Given the description of an element on the screen output the (x, y) to click on. 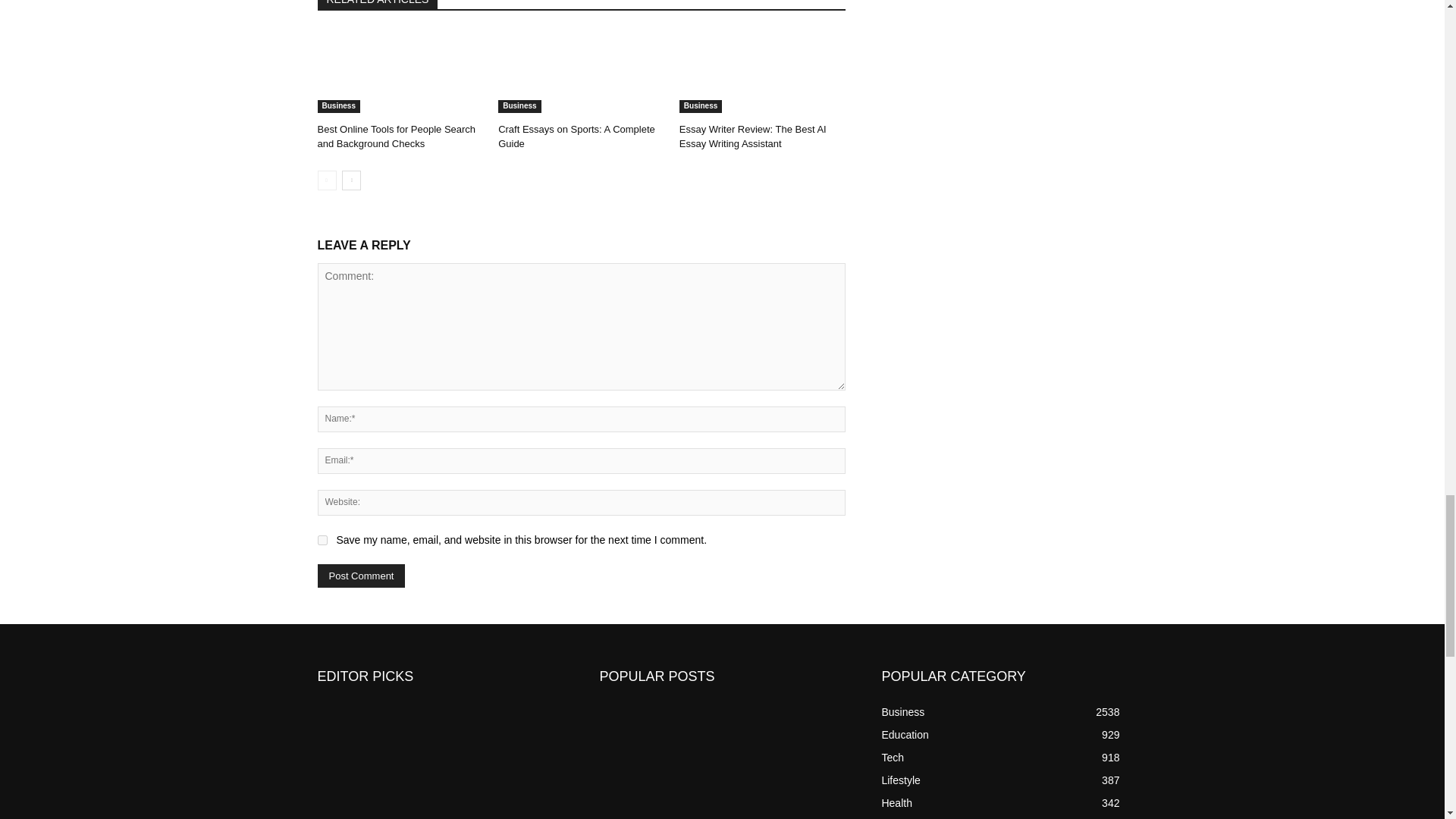
yes (321, 540)
Post Comment (360, 576)
